Given the description of an element on the screen output the (x, y) to click on. 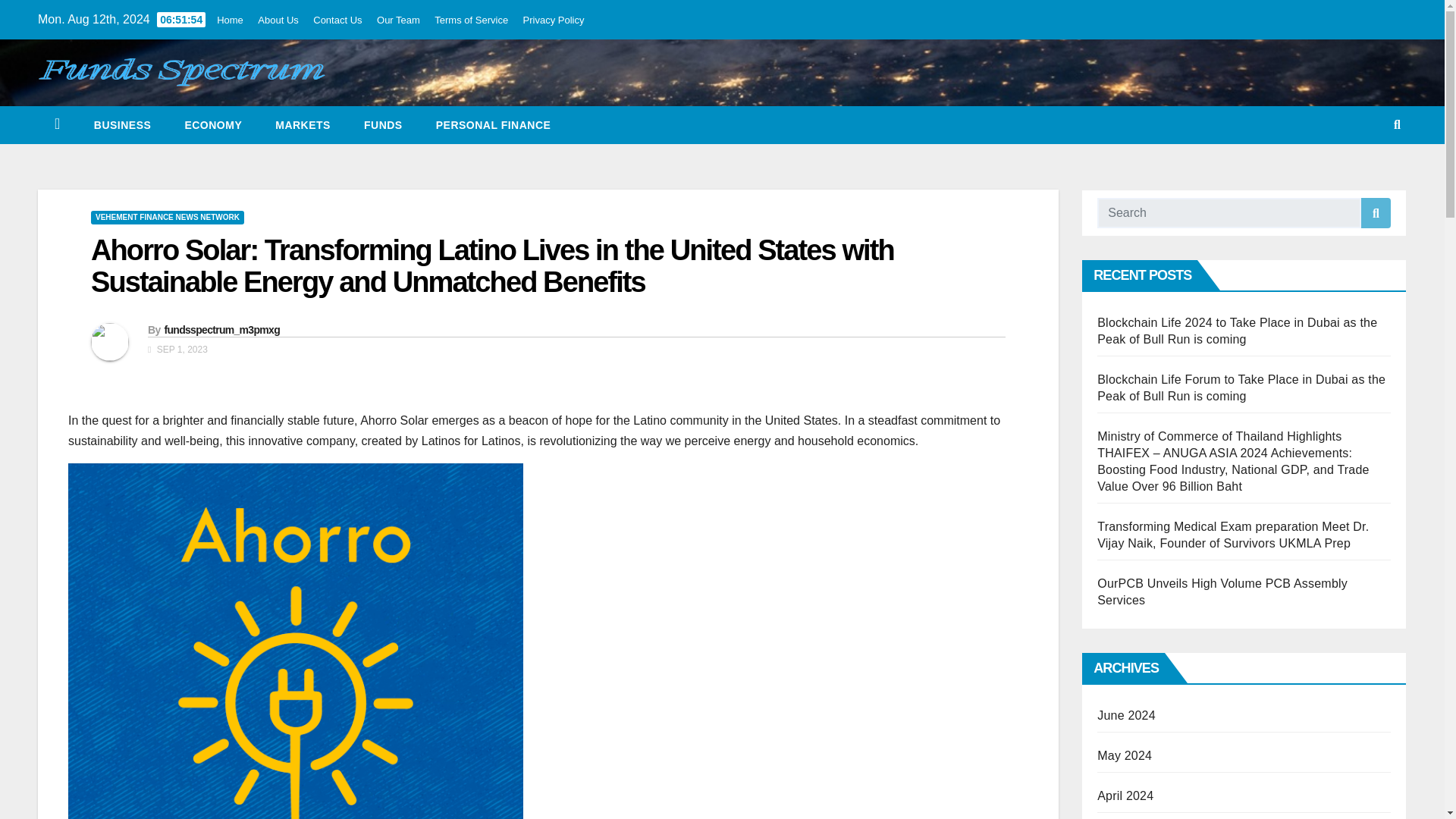
Economy (213, 125)
Contact Us (337, 19)
Markets (303, 125)
About Us (277, 19)
Personal Finance (493, 125)
Funds (383, 125)
Terms of Service (470, 19)
ECONOMY (213, 125)
PERSONAL FINANCE (493, 125)
Home (229, 19)
